Given the description of an element on the screen output the (x, y) to click on. 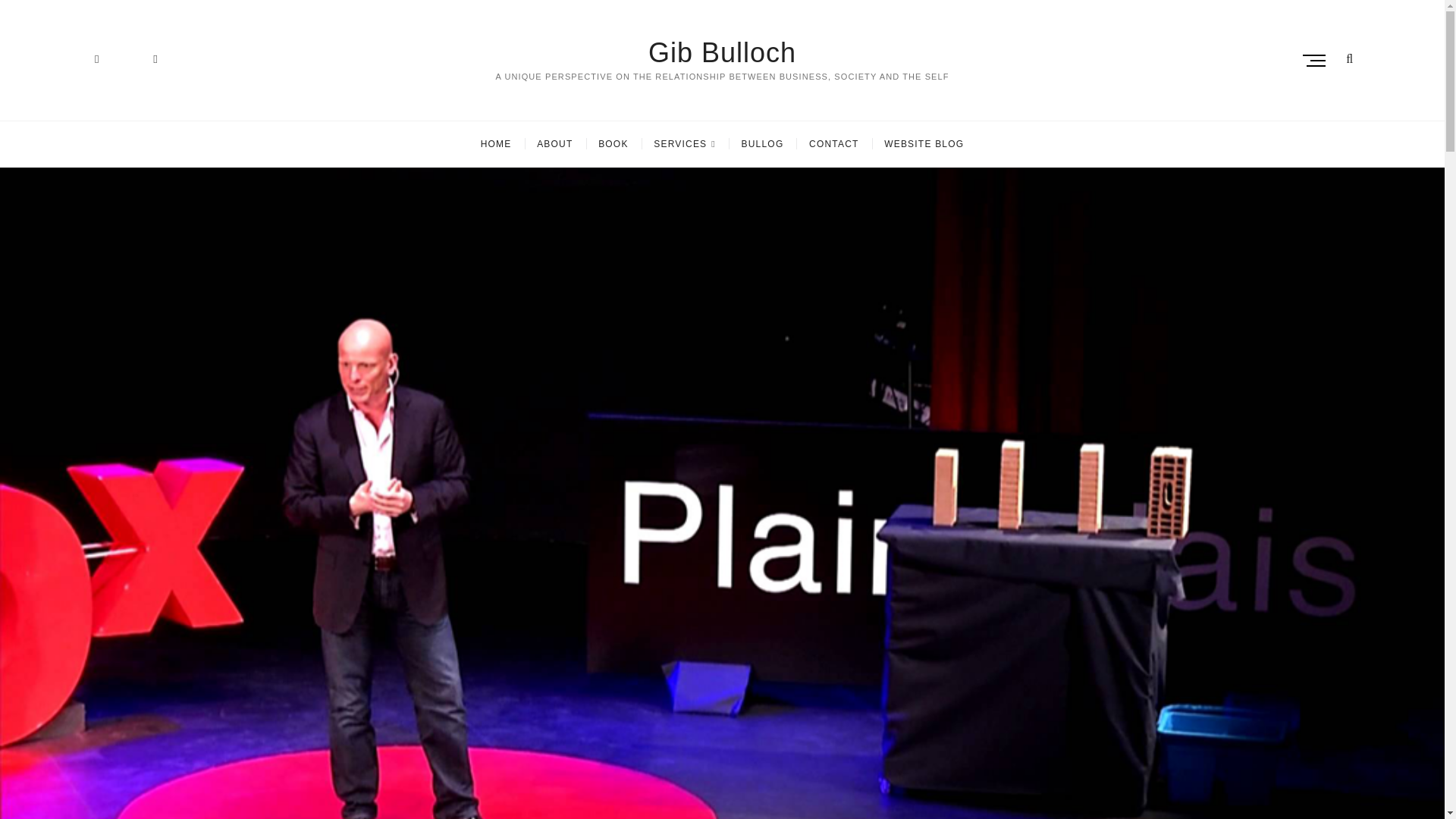
WEBSITE BLOG (923, 144)
BULLOG (762, 144)
CONTACT (833, 144)
Gib Bulloch (722, 52)
BOOK (612, 144)
ABOUT (554, 144)
Connect on LinkedIn (96, 58)
Menu Button (1318, 59)
HOME (495, 144)
SERVICES (684, 144)
